Given the description of an element on the screen output the (x, y) to click on. 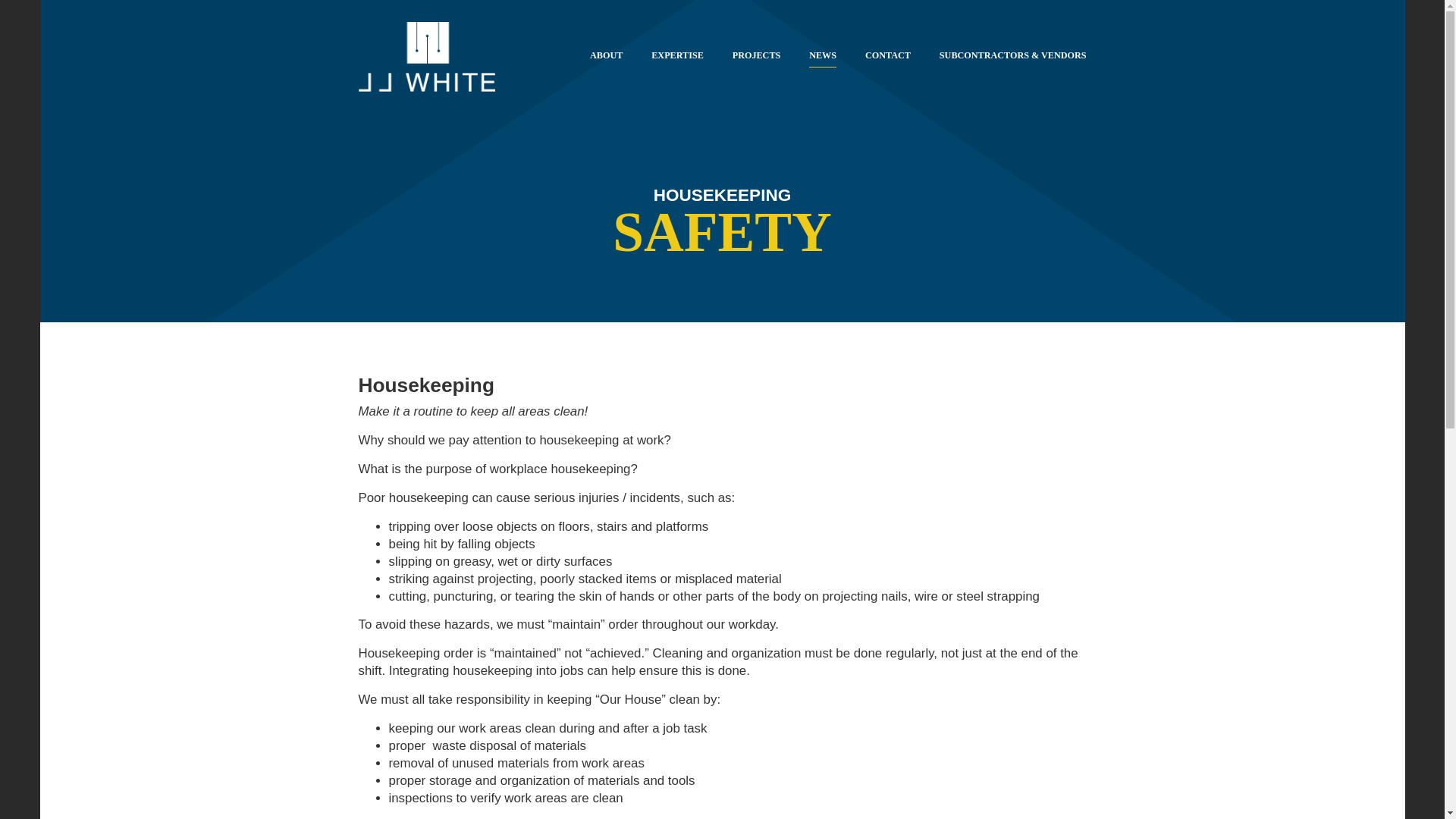
ABOUT (606, 57)
PROJECTS (756, 57)
EXPERTISE (676, 57)
